Given the description of an element on the screen output the (x, y) to click on. 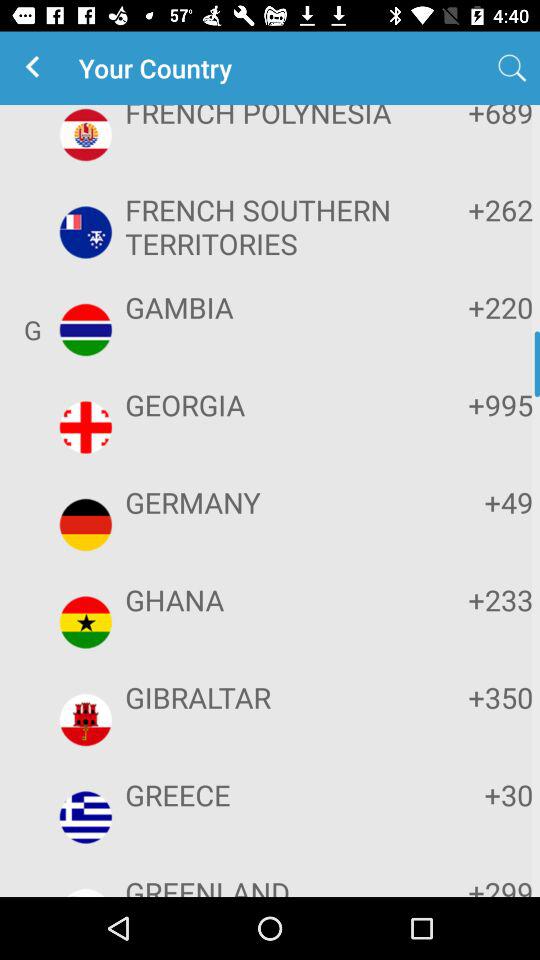
choose georgia app (267, 404)
